Given the description of an element on the screen output the (x, y) to click on. 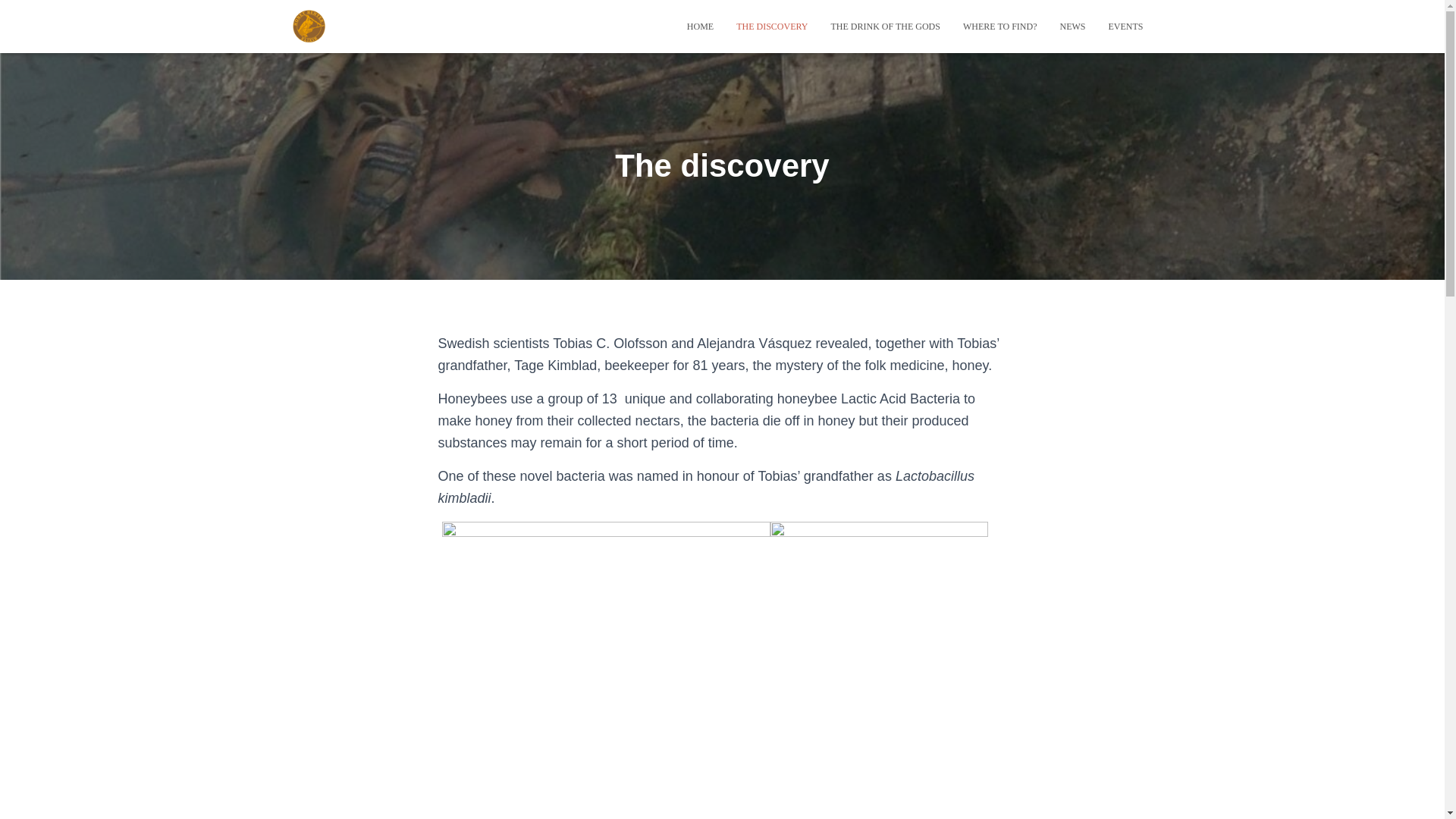
THE DISCOVERY (771, 26)
THE DRINK OF THE GODS (884, 26)
Home (700, 26)
HOME (700, 26)
EVENTS (1125, 26)
News (1072, 26)
The Drink of the Gods (884, 26)
Honey Hunter's Elixir (309, 26)
NEWS (1072, 26)
The discovery (771, 26)
WHERE TO FIND? (1000, 26)
Events (1125, 26)
Where to find? (1000, 26)
